Given the description of an element on the screen output the (x, y) to click on. 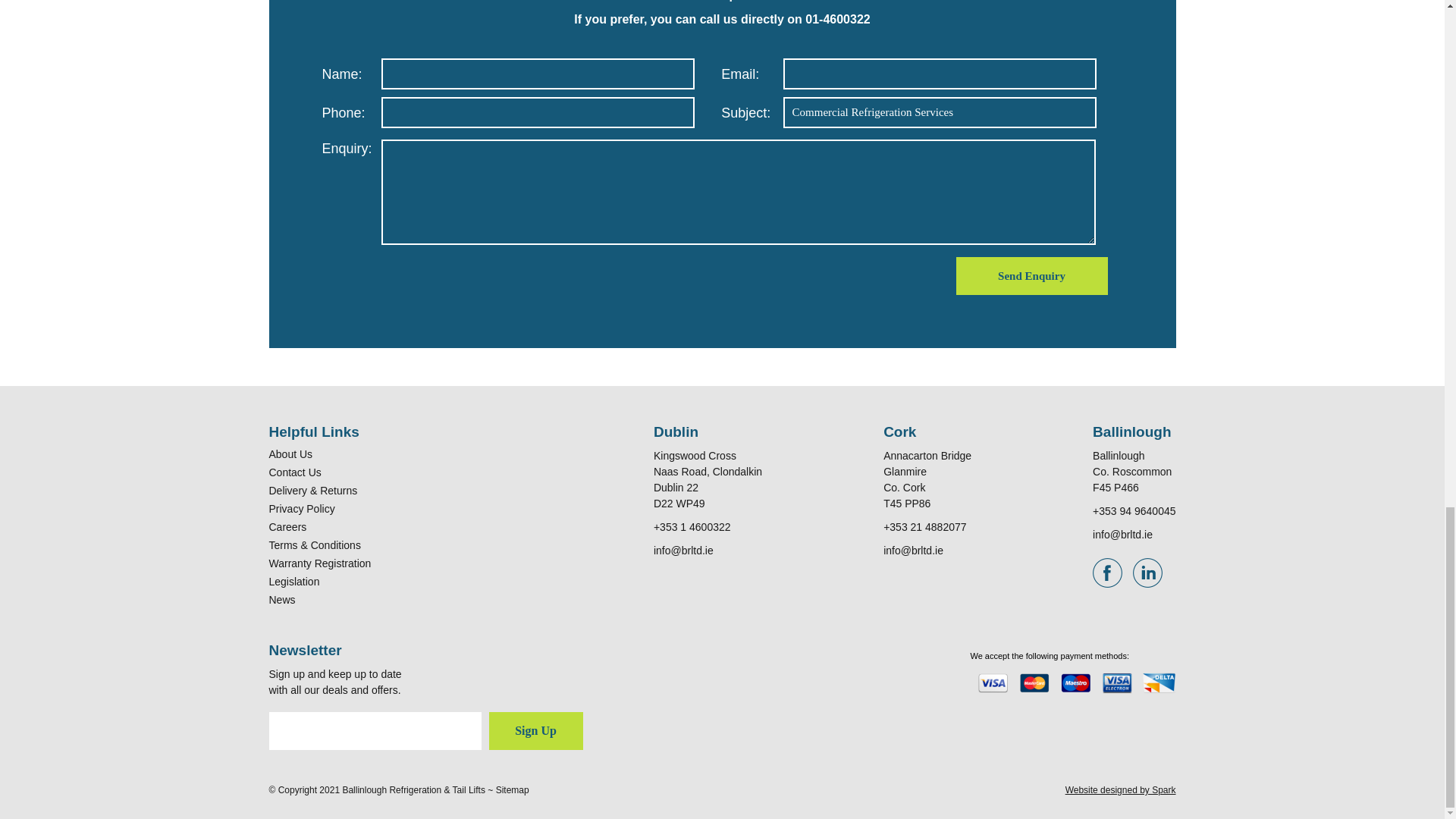
Commercial Refrigeration Services (939, 112)
About Us (290, 453)
Send Enquiry (1030, 275)
